Given the description of an element on the screen output the (x, y) to click on. 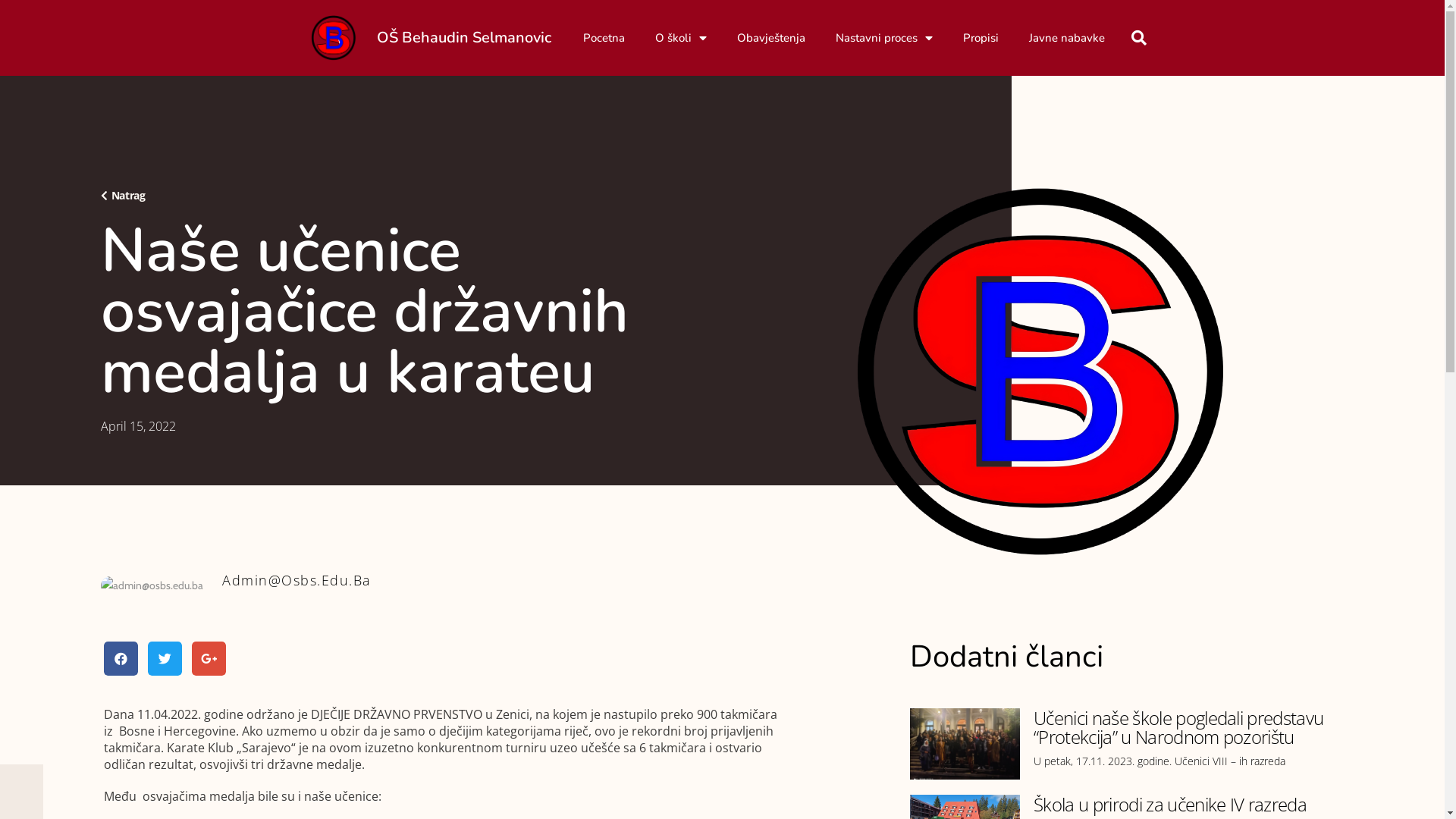
Nastavni proces Element type: text (883, 37)
Javne nabavke Element type: text (1066, 37)
Natrag Element type: text (122, 195)
Pocetna Element type: text (603, 37)
Propisi Element type: text (980, 37)
